Given the description of an element on the screen output the (x, y) to click on. 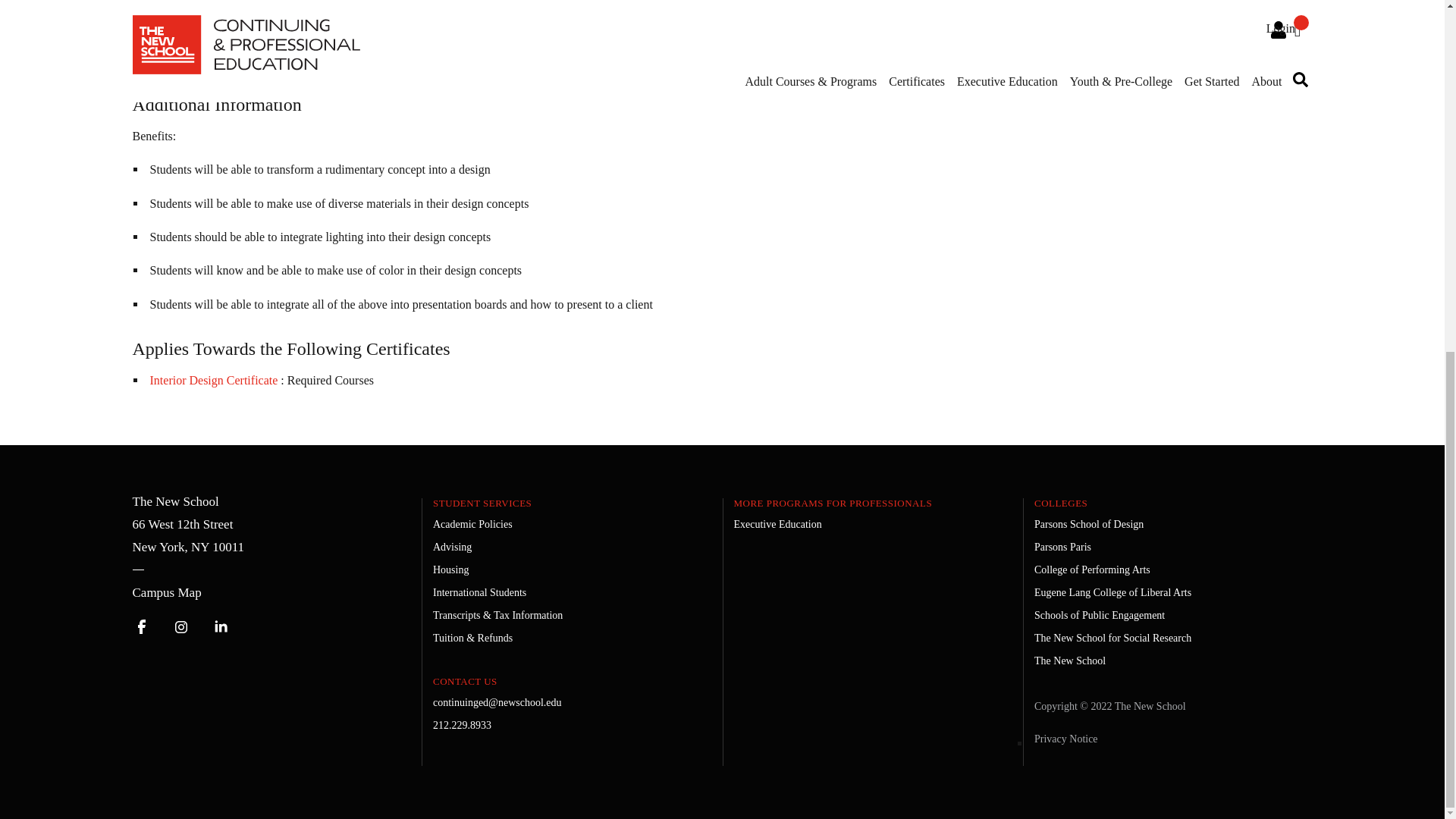
Privacy Policy (1065, 739)
Directory (166, 593)
